Given the description of an element on the screen output the (x, y) to click on. 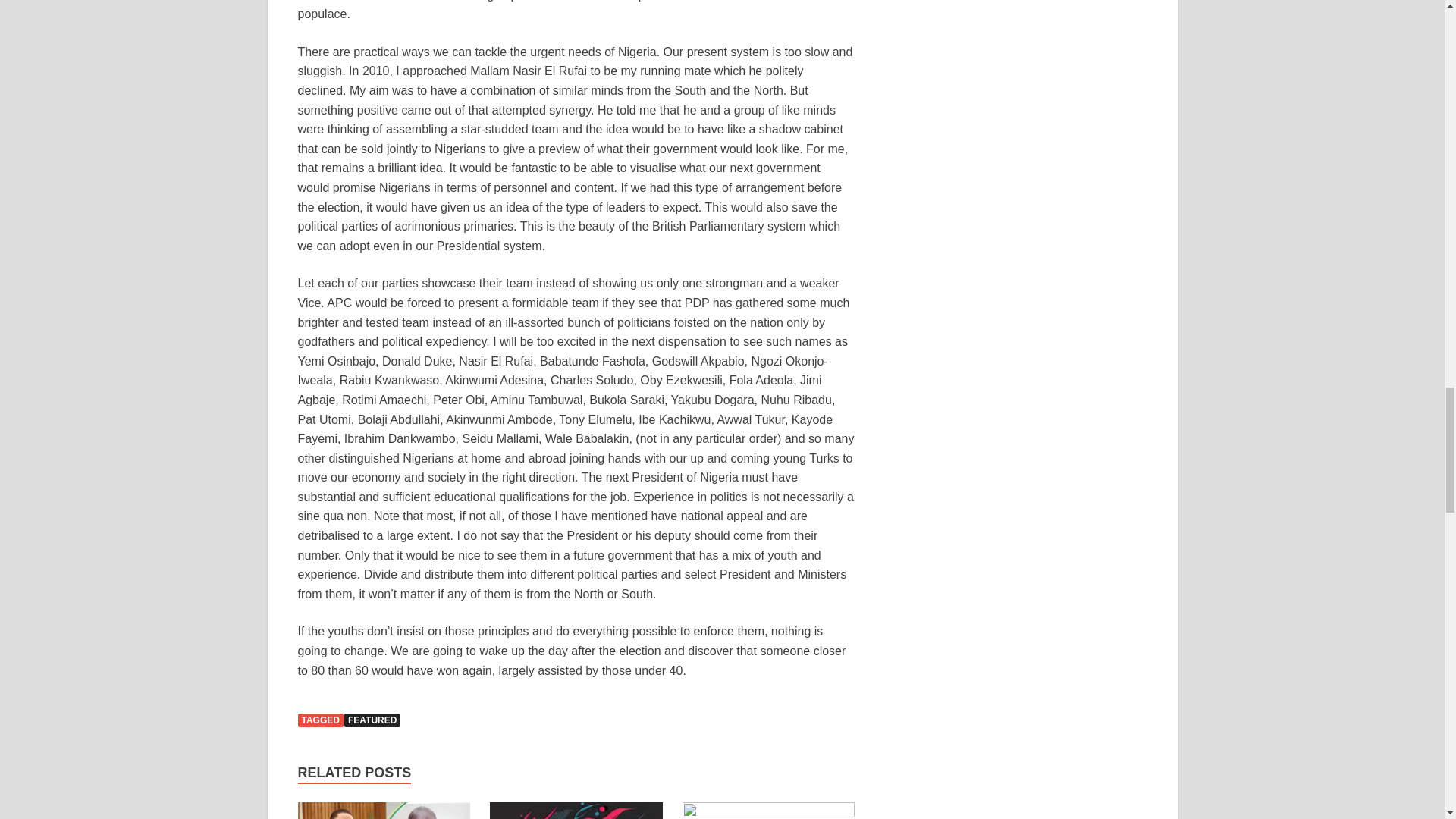
FEATURED (371, 720)
